Given the description of an element on the screen output the (x, y) to click on. 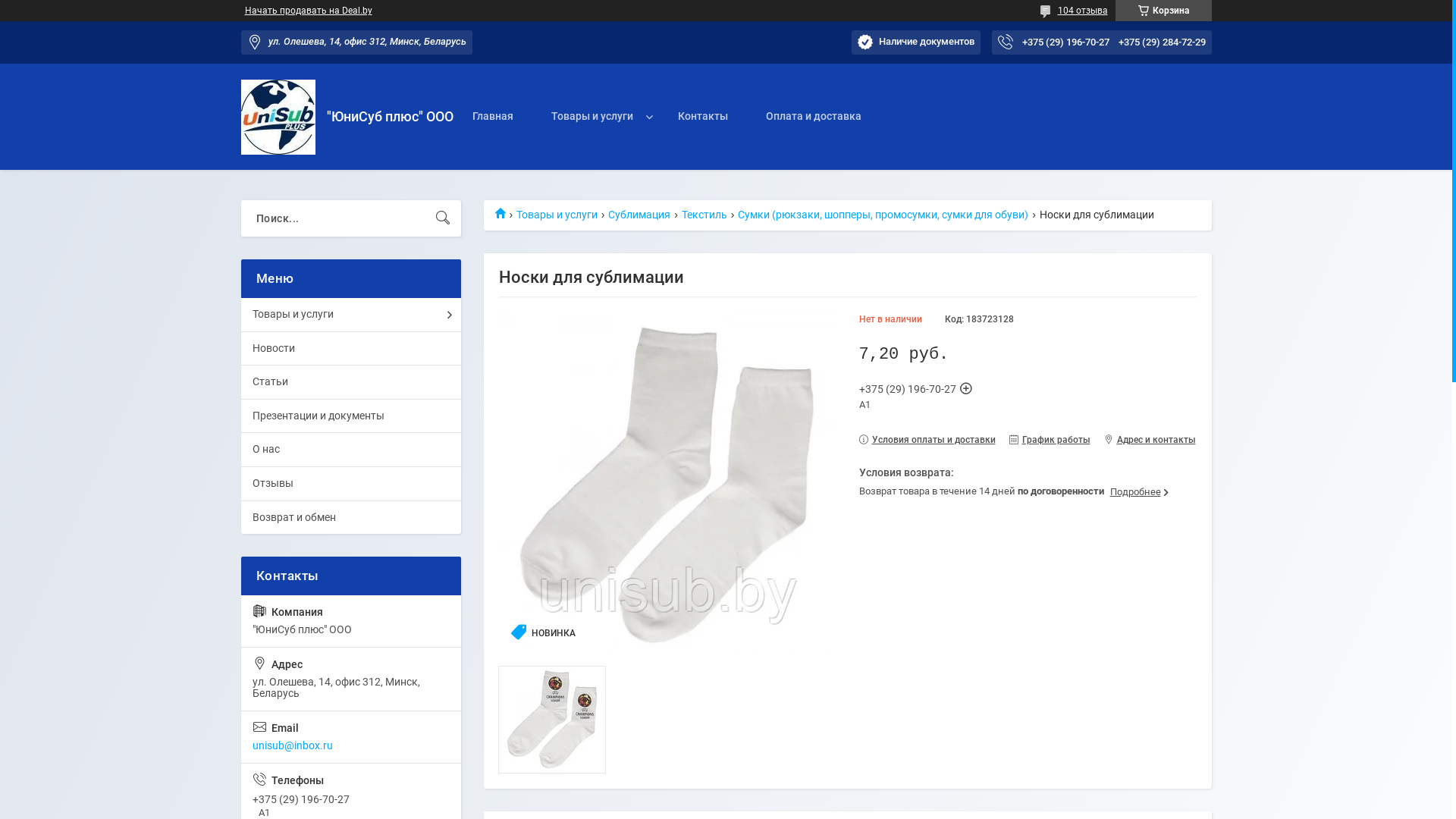
unisub@inbox.ru Element type: text (351, 737)
